Given the description of an element on the screen output the (x, y) to click on. 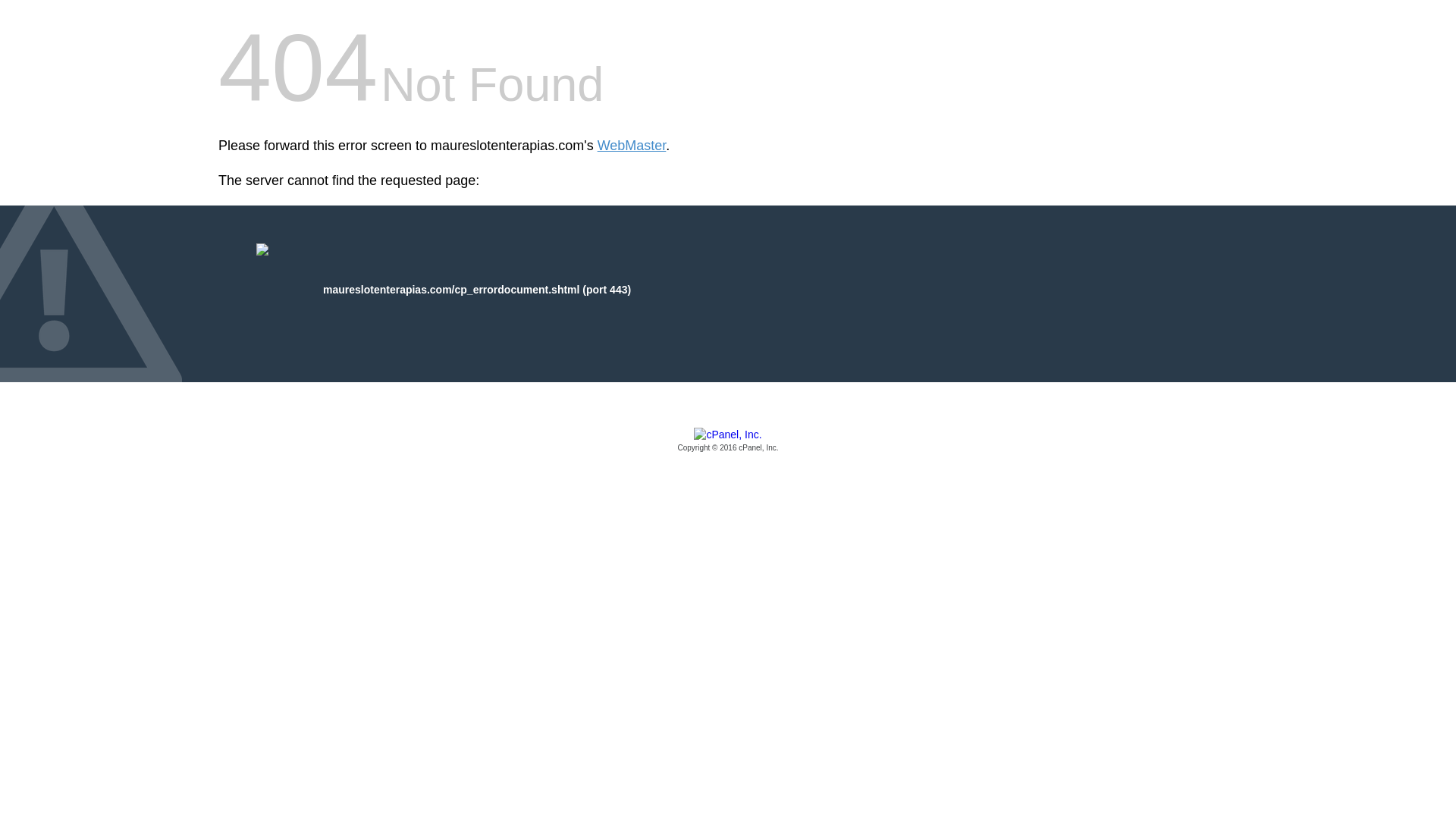
WebMaster (631, 145)
cPanel, Inc. (727, 440)
